Given the description of an element on the screen output the (x, y) to click on. 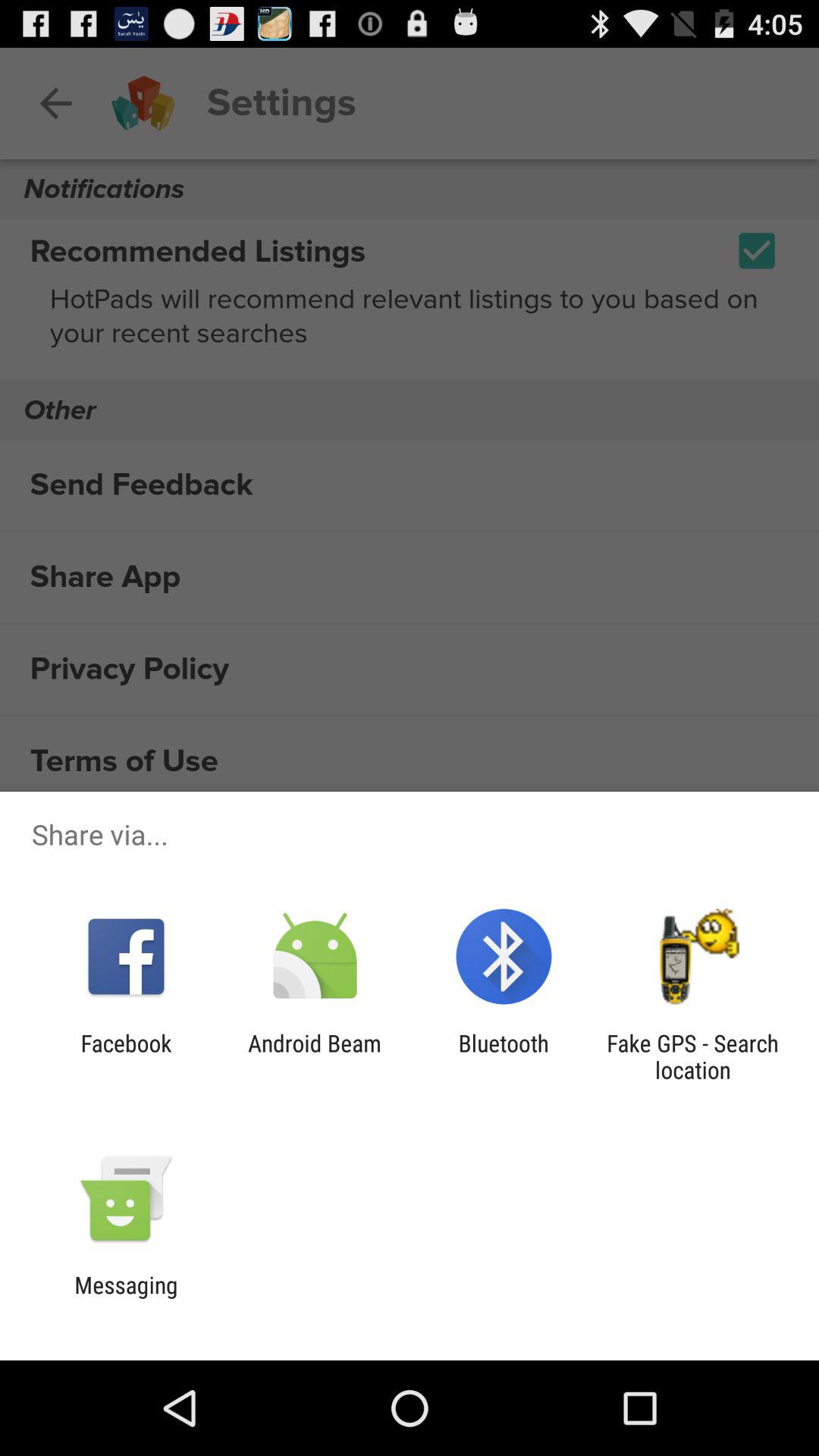
turn off fake gps search (692, 1056)
